Given the description of an element on the screen output the (x, y) to click on. 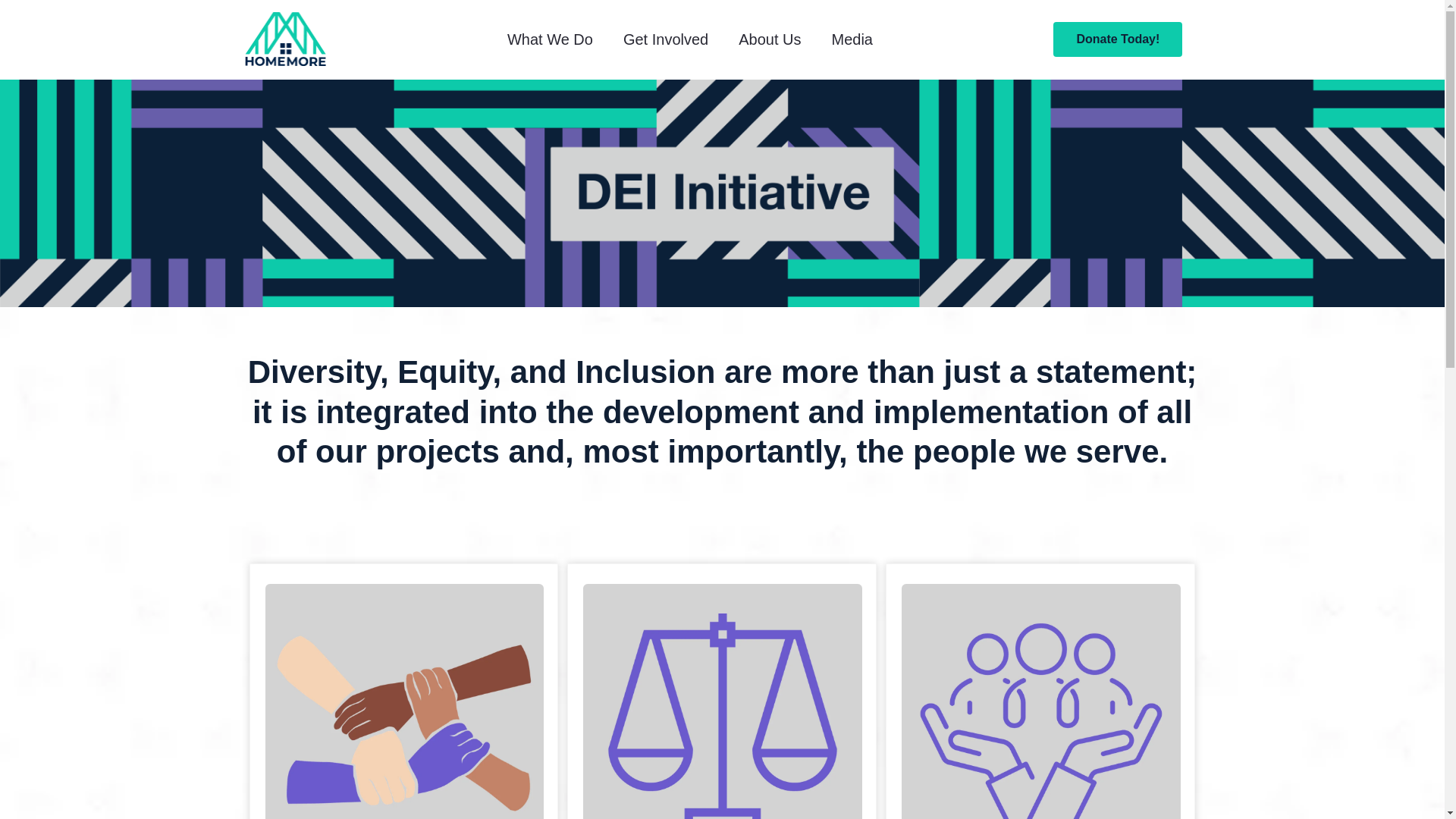
About Us (769, 39)
Get Involved (665, 39)
Media (850, 39)
Donate Today! (1117, 39)
What We Do (550, 39)
